Given the description of an element on the screen output the (x, y) to click on. 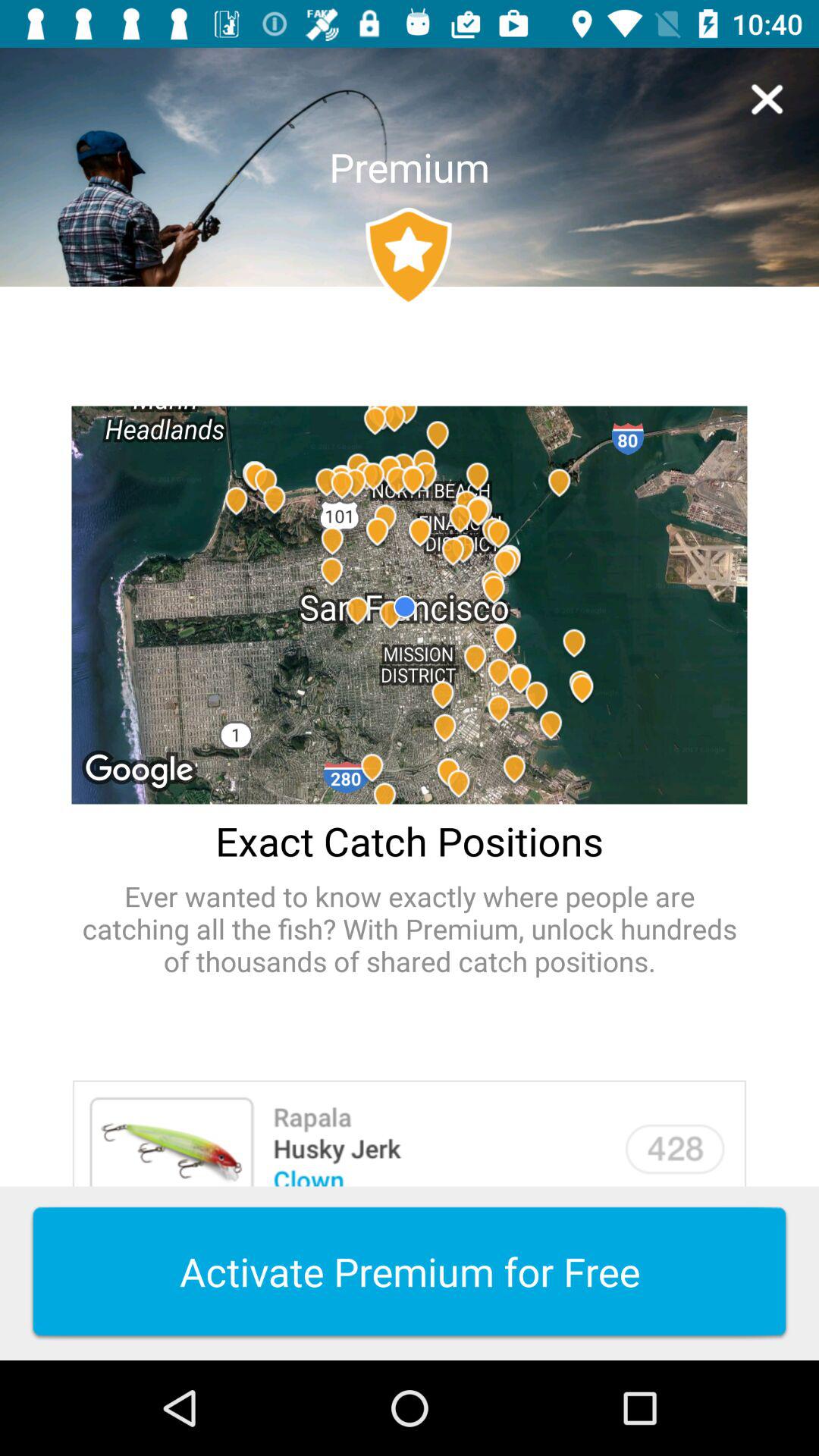
open the icon at the top right corner (767, 99)
